Given the description of an element on the screen output the (x, y) to click on. 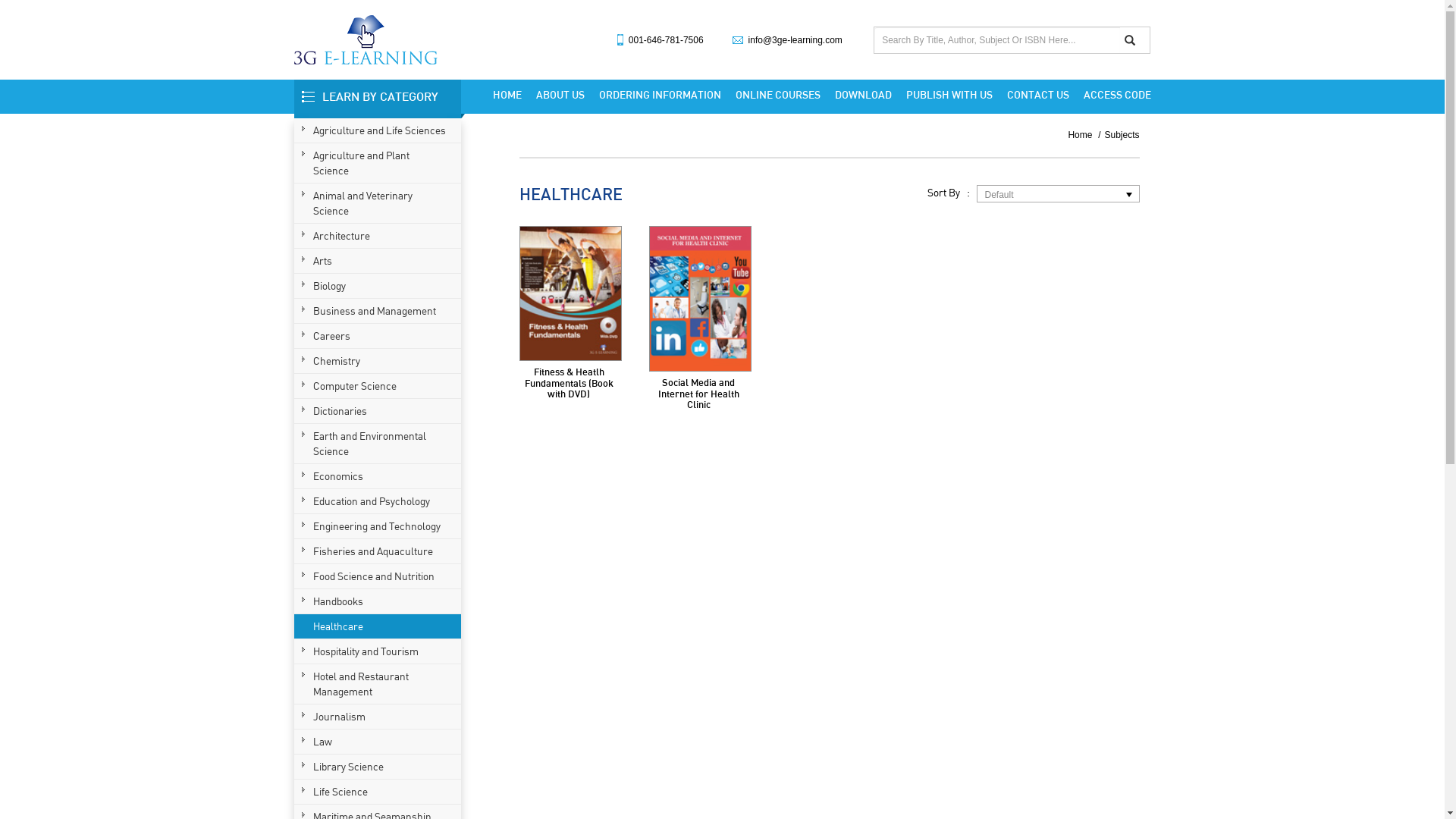
ORDERING INFORMATION Element type: text (660, 94)
Hospitality and Tourism Element type: text (378, 651)
Biology Element type: text (378, 285)
CONTACT US Element type: text (1038, 94)
Food Science and Nutrition Element type: text (378, 576)
Default Element type: text (1046, 193)
DOWNLOAD Element type: text (862, 94)
Social Media and Internet for Health Clinic Element type: text (698, 392)
Toggle Dropdown Element type: text (1128, 193)
Economics Element type: text (378, 476)
Home Element type: text (1083, 134)
info@3ge-learning.com Element type: text (795, 39)
Arts Element type: text (378, 260)
Business and Management Element type: text (378, 310)
PUBLISH WITH US Element type: text (948, 94)
Careers Element type: text (378, 335)
Journalism Element type: text (378, 716)
Agriculture and Plant Science Element type: text (378, 162)
Fitness & Heatlh Fundamentals (Book with DVD) Element type: text (568, 382)
Fisheries and Aquaculture Element type: text (378, 551)
Fitness & Heatlh Fundamentals (Book with DVD) Element type: hover (570, 293)
Dictionaries Element type: text (378, 410)
Library Science Element type: text (378, 766)
ACCESS CODE Element type: text (1113, 94)
3G Learning Element type: hover (365, 39)
Education and Psychology Element type: text (378, 501)
Life Science Element type: text (378, 791)
Agriculture and Life Sciences Element type: text (378, 130)
HOME Element type: text (506, 94)
ABOUT US Element type: text (559, 94)
Computer Science Element type: text (378, 385)
Law Element type: text (378, 741)
Handbooks Element type: text (378, 601)
Earth and Environmental Science Element type: text (378, 443)
ONLINE COURSES Element type: text (777, 94)
Social Media and Internet for Health Clinic Element type: hover (699, 298)
Animal and Veterinary Science Element type: text (378, 202)
Healthcare Element type: text (378, 626)
Engineering and Technology Element type: text (378, 526)
Chemistry Element type: text (378, 360)
Hotel and Restaurant Management Element type: text (378, 683)
Architecture Element type: text (378, 235)
